Given the description of an element on the screen output the (x, y) to click on. 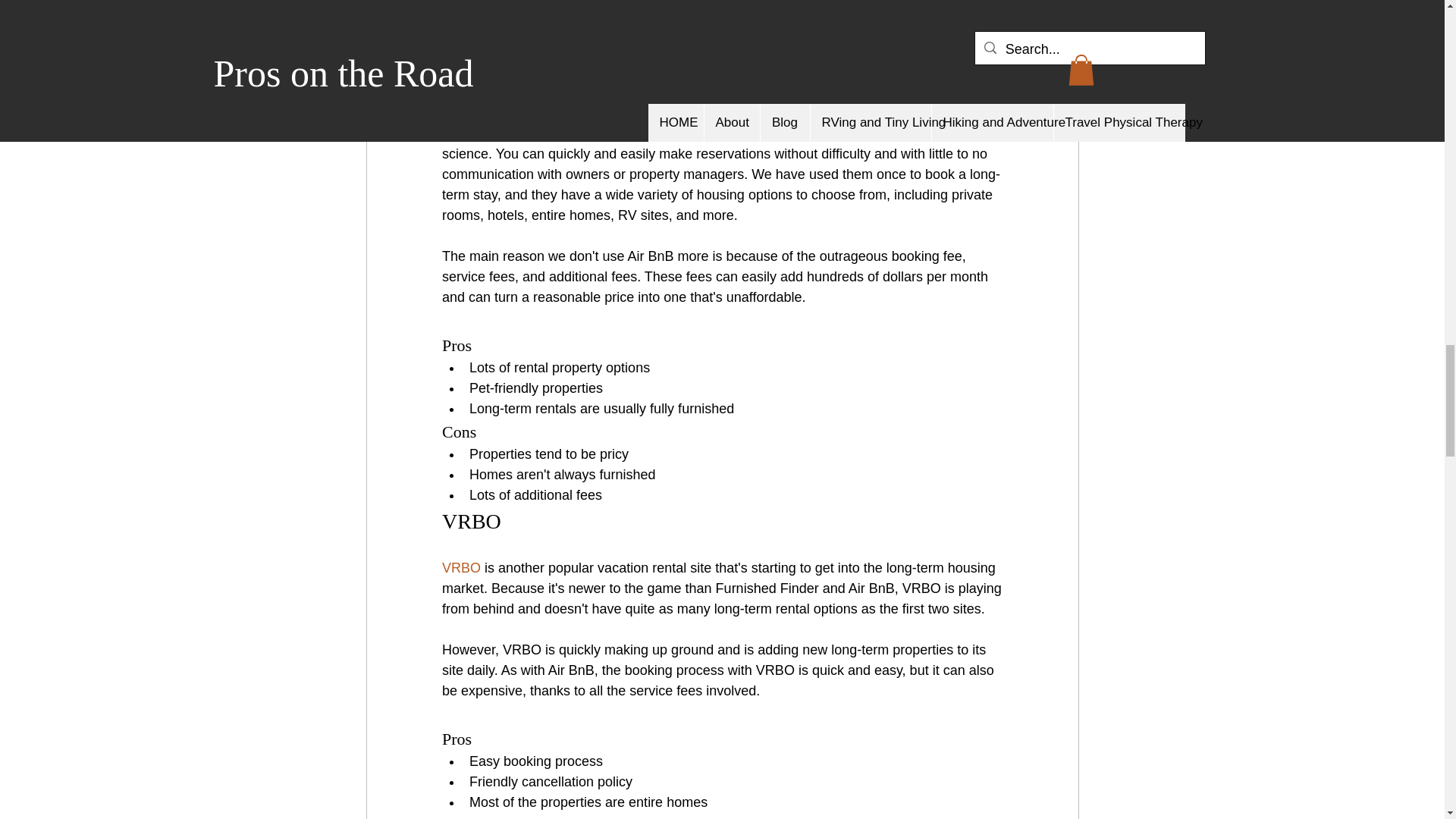
Air BnB (971, 30)
VRBO (460, 567)
